Given the description of an element on the screen output the (x, y) to click on. 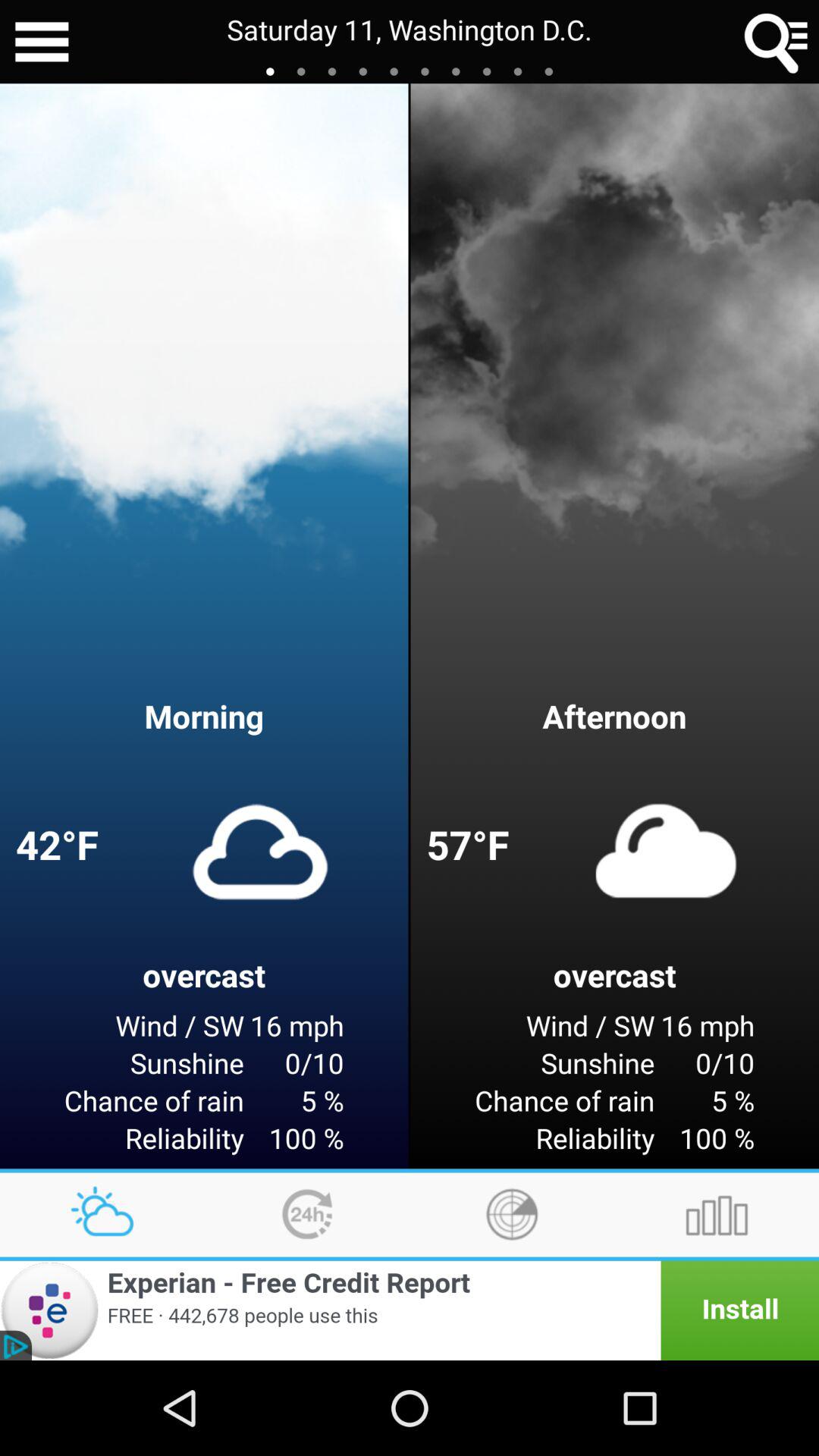
go to experian page (409, 1310)
